Given the description of an element on the screen output the (x, y) to click on. 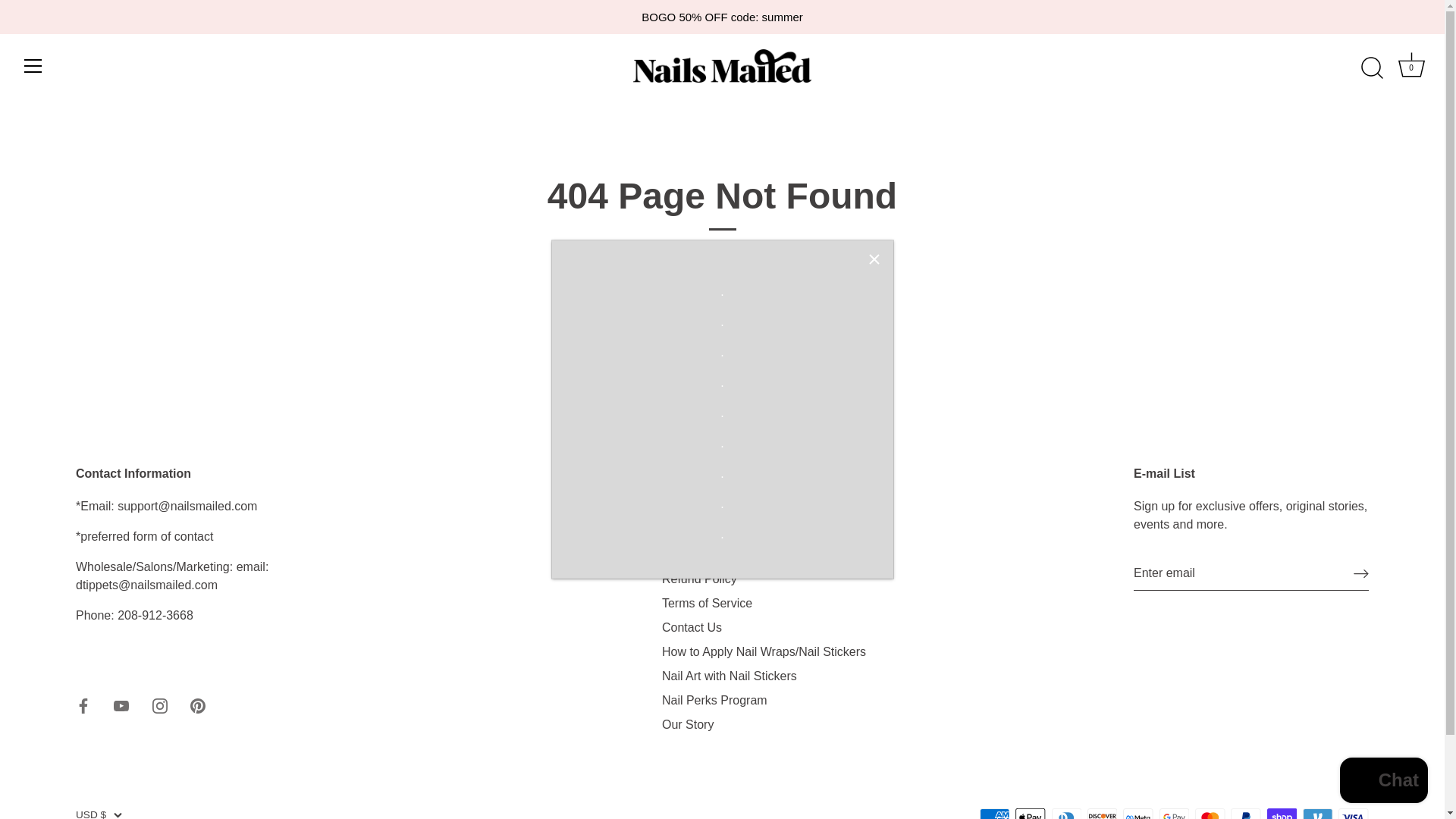
Visa (1353, 813)
Shopify online store chat (1383, 781)
Venmo (1317, 813)
PayPal (1245, 813)
Instagram (1411, 68)
American Express (159, 705)
Right arrow long (994, 813)
Google Pay (1361, 573)
Meta Pay (1173, 813)
